Given the description of an element on the screen output the (x, y) to click on. 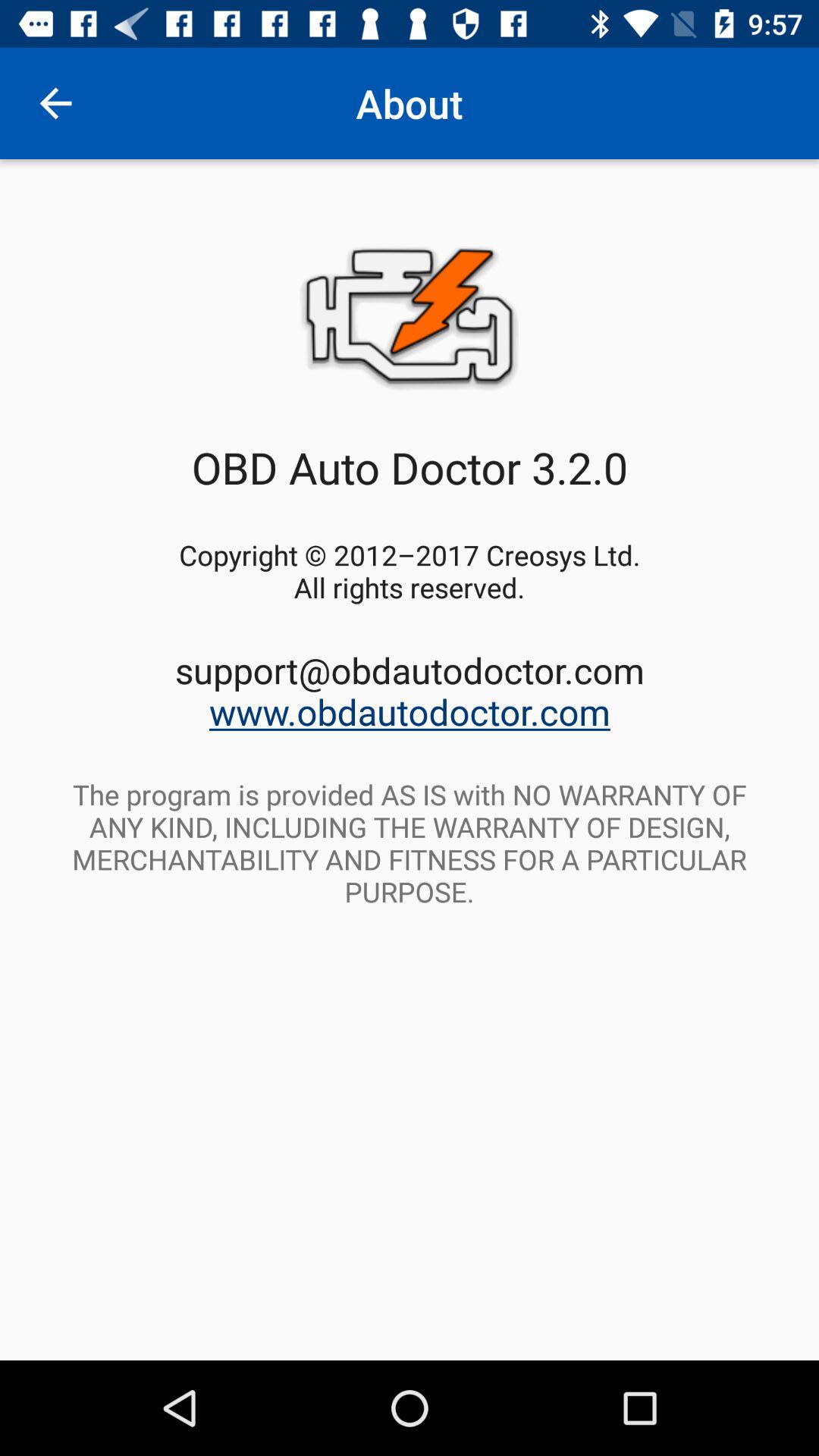
flip to the support obdautodoctor com icon (409, 690)
